Given the description of an element on the screen output the (x, y) to click on. 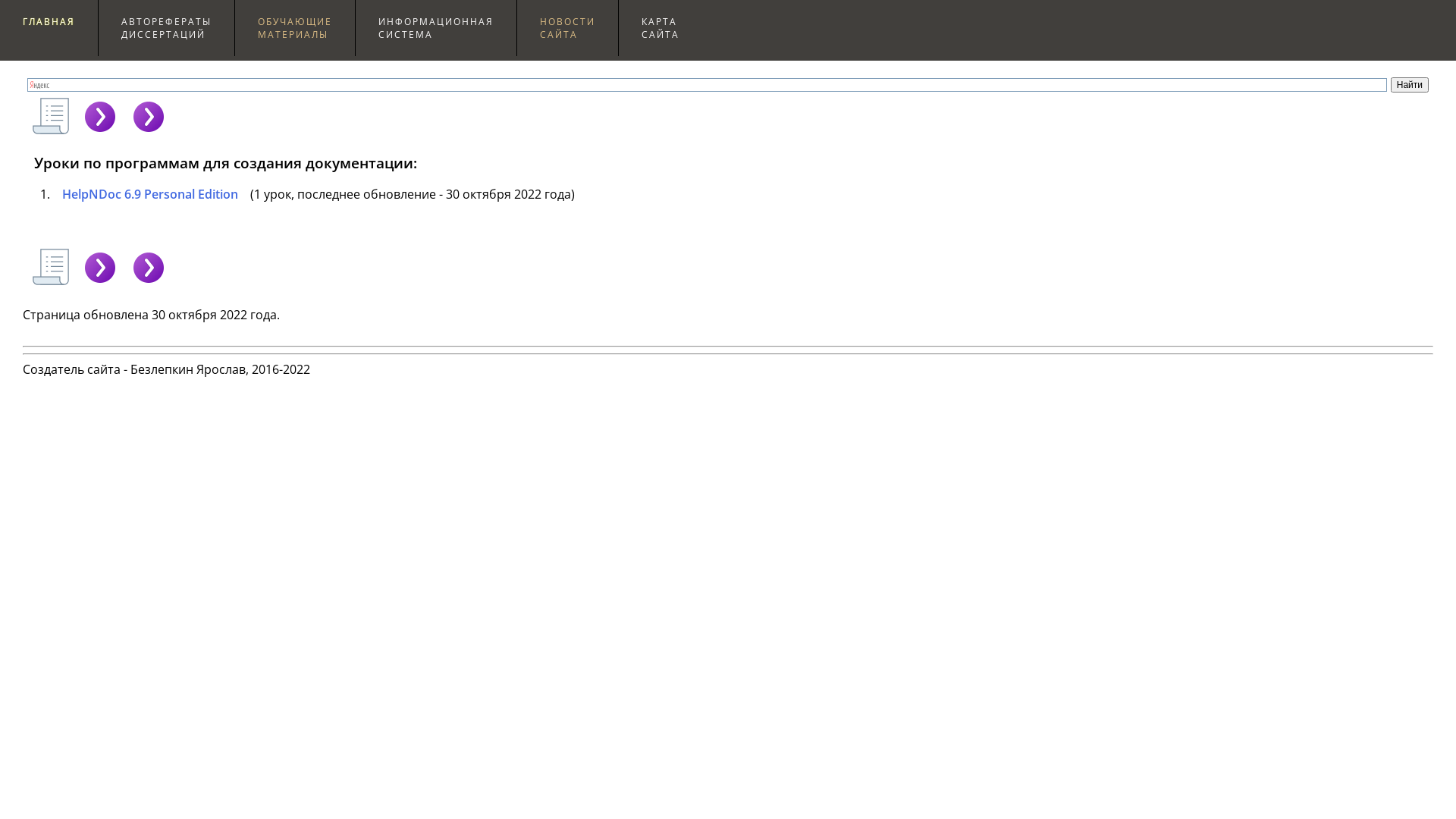
   HelpNDoc 6.9 Personal Edition Element type: text (145, 193)
